Given the description of an element on the screen output the (x, y) to click on. 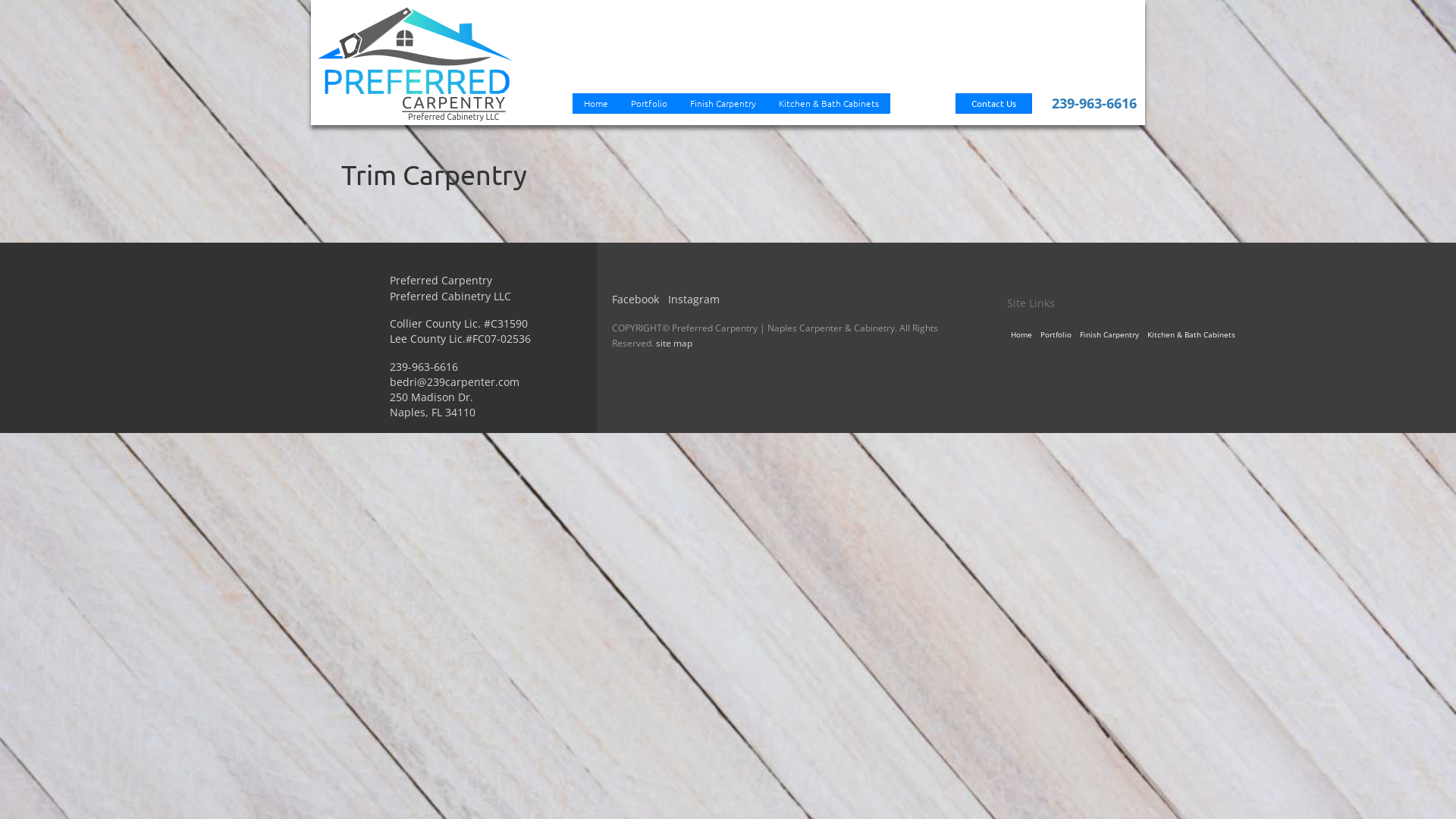
Kitchen & Bath Cabinets Element type: text (828, 103)
Portfolio Element type: text (648, 103)
Home Element type: text (1021, 334)
239-963-6616 Element type: text (423, 366)
Prefered Carpentry2 Element type: hover (414, 64)
Contact Us Element type: text (993, 103)
Home Element type: text (595, 103)
Portfolio Element type: text (1055, 334)
Kitchen & Bath Cabinets Element type: text (1191, 334)
Finish Carpentry Element type: text (722, 103)
Finish Carpentry Element type: text (1109, 334)
site map Element type: text (673, 342)
239-963-6616 Element type: text (1093, 103)
bedri@239carpenter.com Element type: text (454, 381)
